Given the description of an element on the screen output the (x, y) to click on. 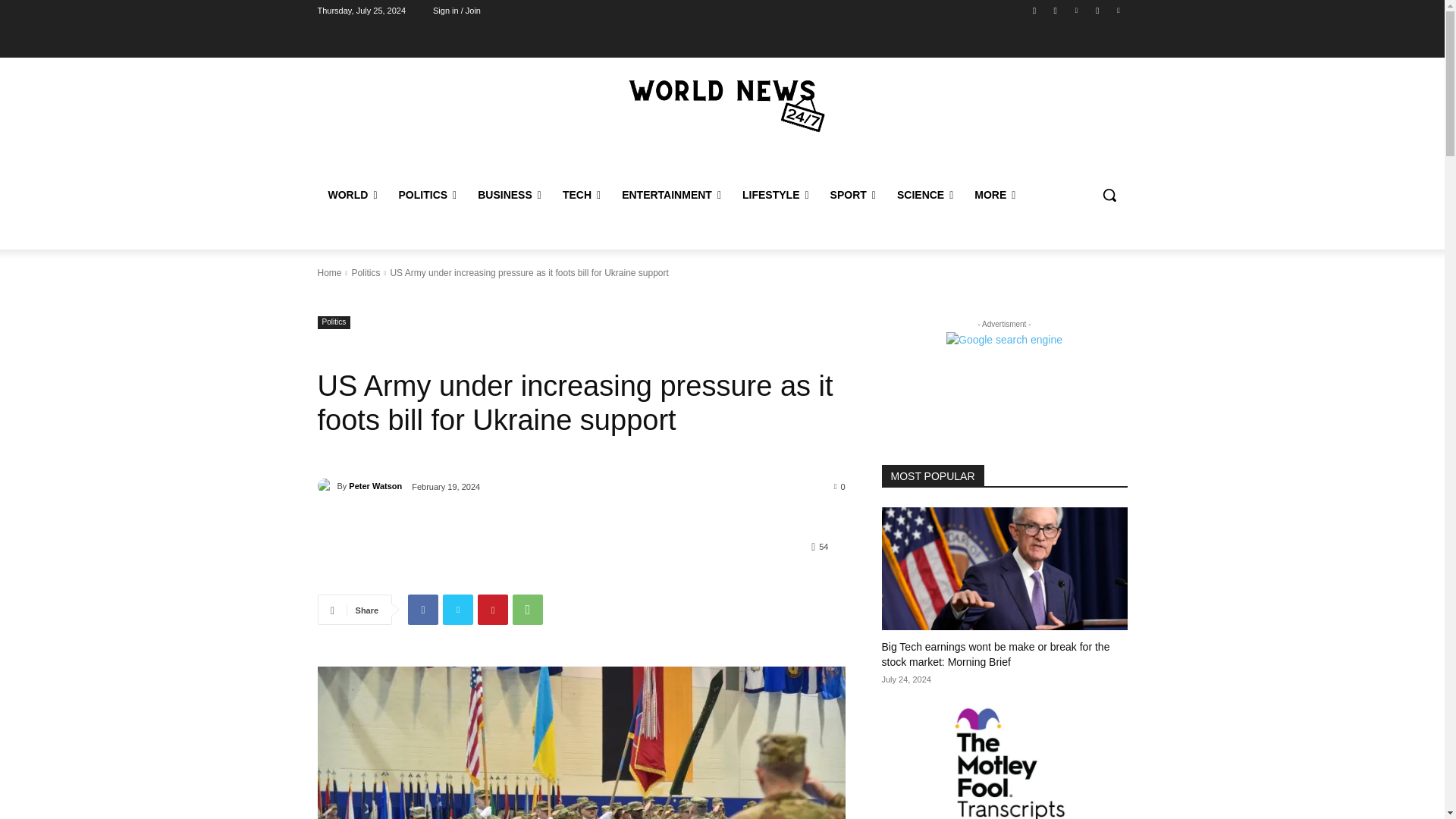
Twitter (1117, 9)
WorldNewz247 Logo (721, 105)
Instagram (1055, 9)
Tumblr (1097, 9)
Facebook (1034, 9)
Pinterest (1075, 9)
WORLD (352, 194)
